Given the description of an element on the screen output the (x, y) to click on. 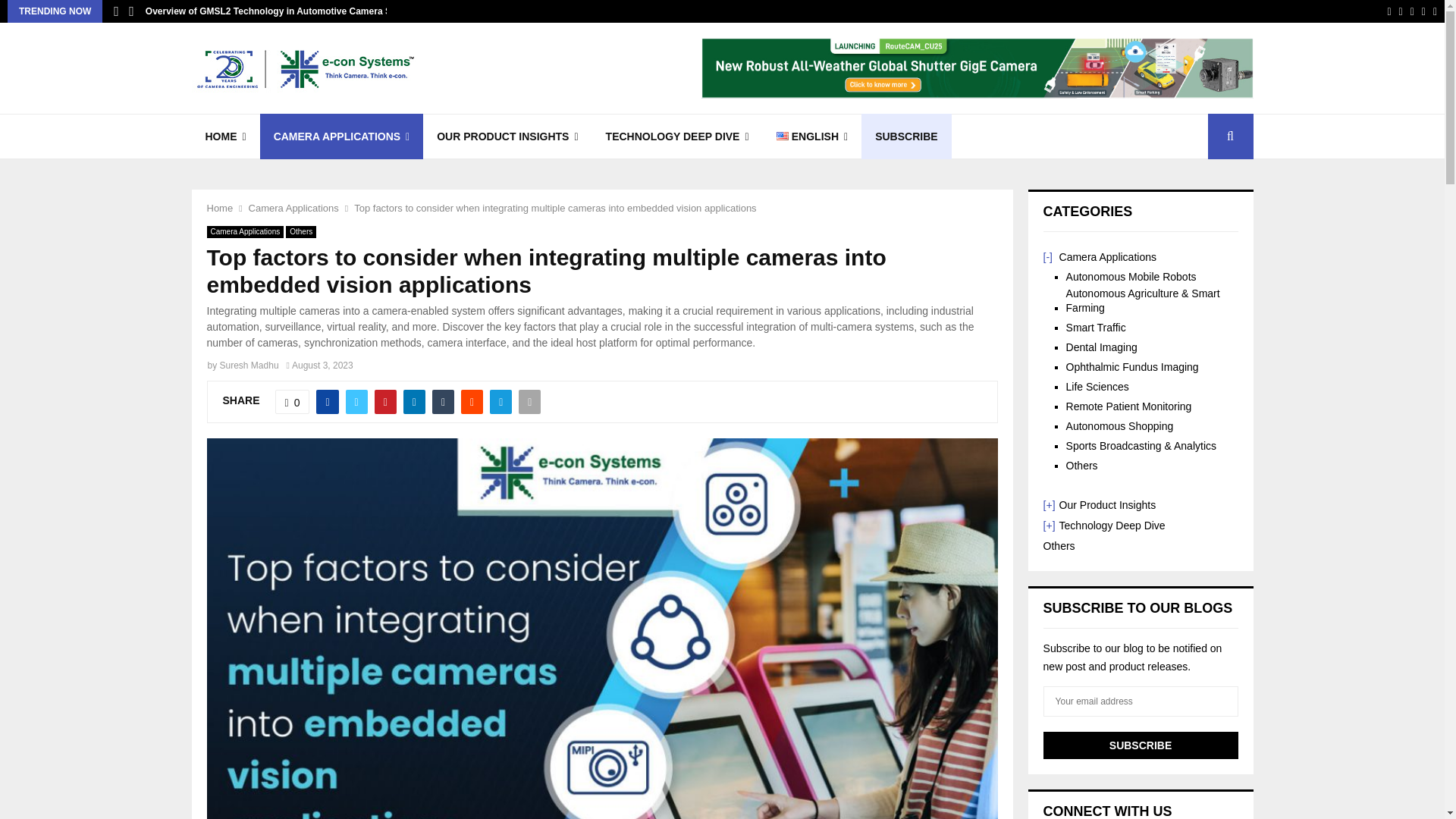
CAMERA APPLICATIONS (341, 135)
Subscribe (1141, 745)
Like (292, 401)
Overview of GMSL2 Technology in Automotive Camera Systems (283, 10)
HOME (224, 135)
